Given the description of an element on the screen output the (x, y) to click on. 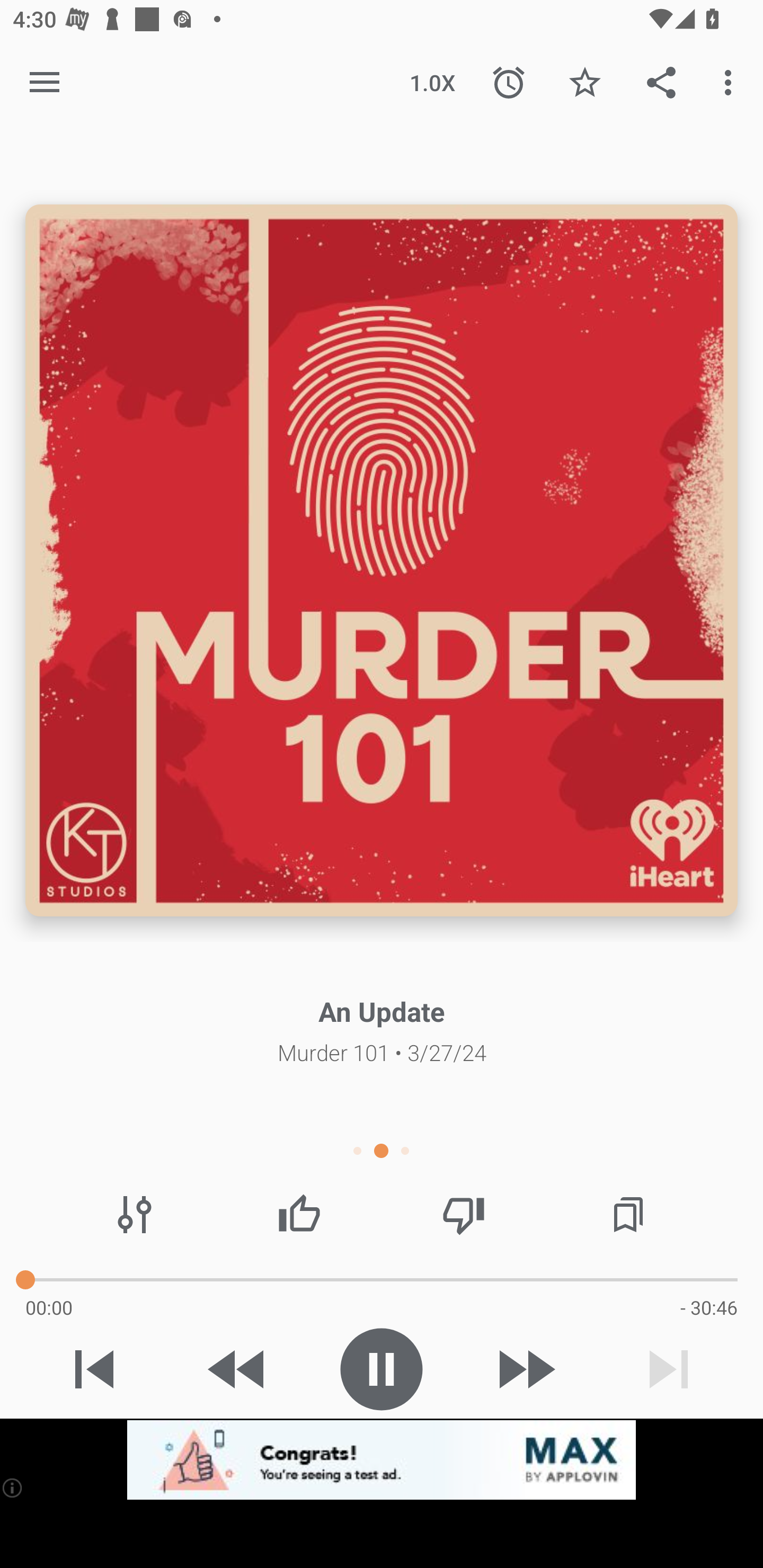
Open navigation sidebar (44, 82)
1.0X (432, 81)
Sleep Timer (508, 81)
Favorite (585, 81)
Share (661, 81)
More options (731, 81)
Episode description (381, 559)
Audio effects (134, 1214)
Thumbs up (298, 1214)
Thumbs down (463, 1214)
Chapters / Bookmarks (628, 1214)
- 30:46 (708, 1306)
Previous track (94, 1369)
Skip 15s backward (237, 1369)
Play / Pause (381, 1369)
Skip 30s forward (525, 1369)
Next track (668, 1369)
app-monetization (381, 1459)
(i) (11, 1487)
